Given the description of an element on the screen output the (x, y) to click on. 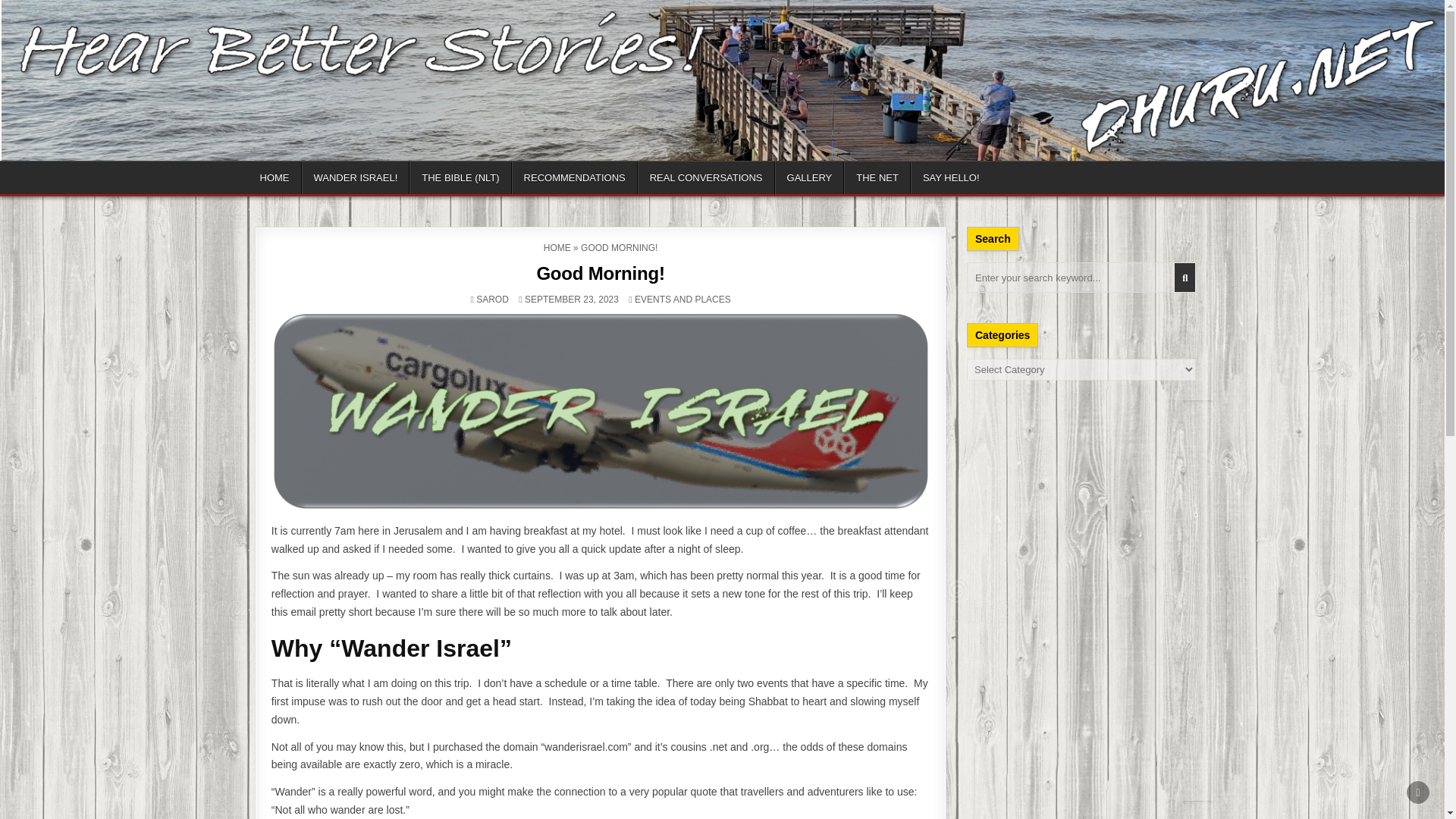
Recommendations (546, 180)
SCROLL TO TOP (1417, 792)
SAROD (498, 302)
Home (273, 180)
Real Conversations (656, 180)
Good Morning! (600, 277)
Wander Israel! (344, 180)
Say Hello! (868, 180)
HOME (558, 251)
SCROLL TO TOP (1417, 792)
